Given the description of an element on the screen output the (x, y) to click on. 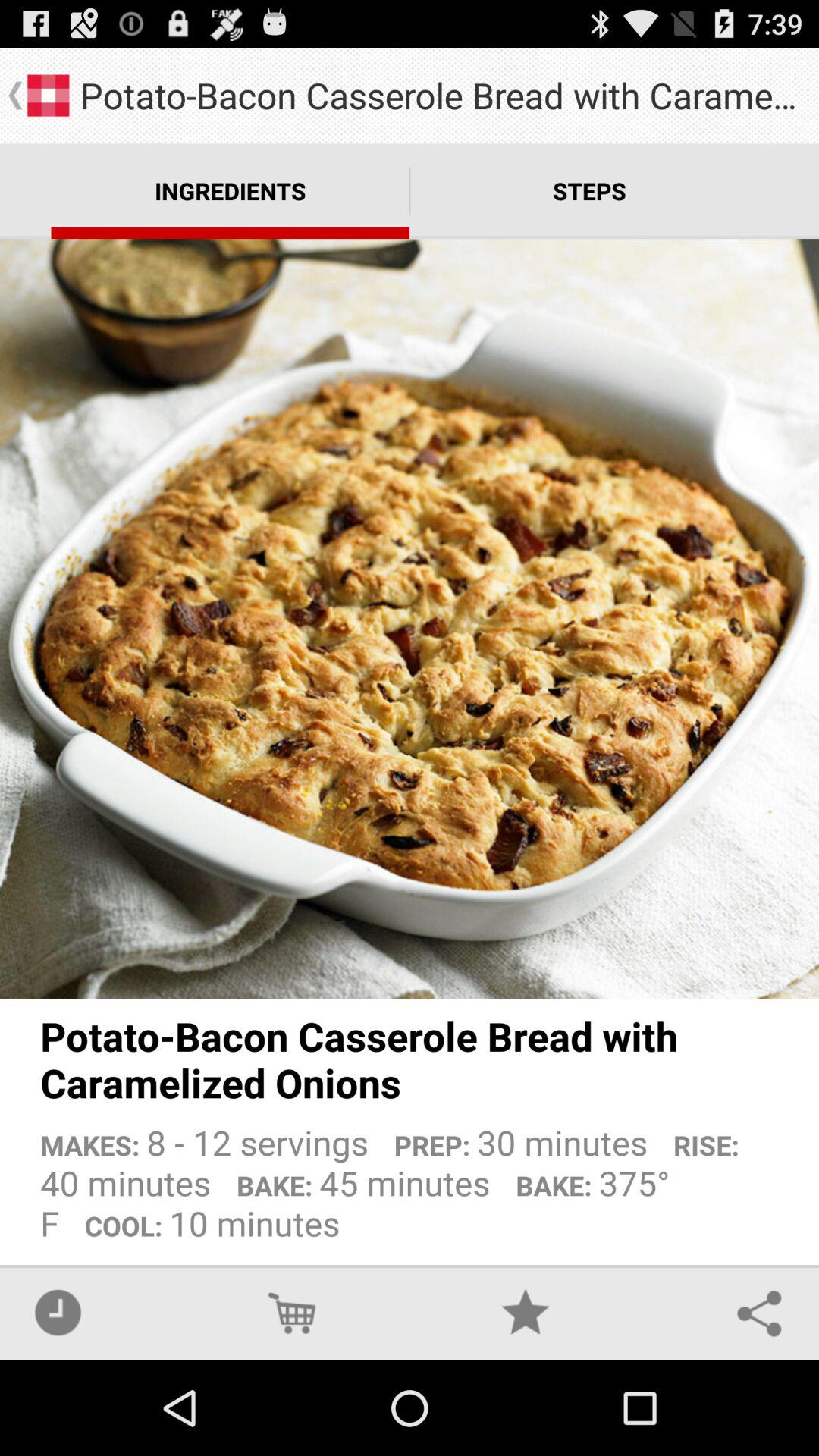
press the app below the potato bacon casserole icon (409, 1177)
